Given the description of an element on the screen output the (x, y) to click on. 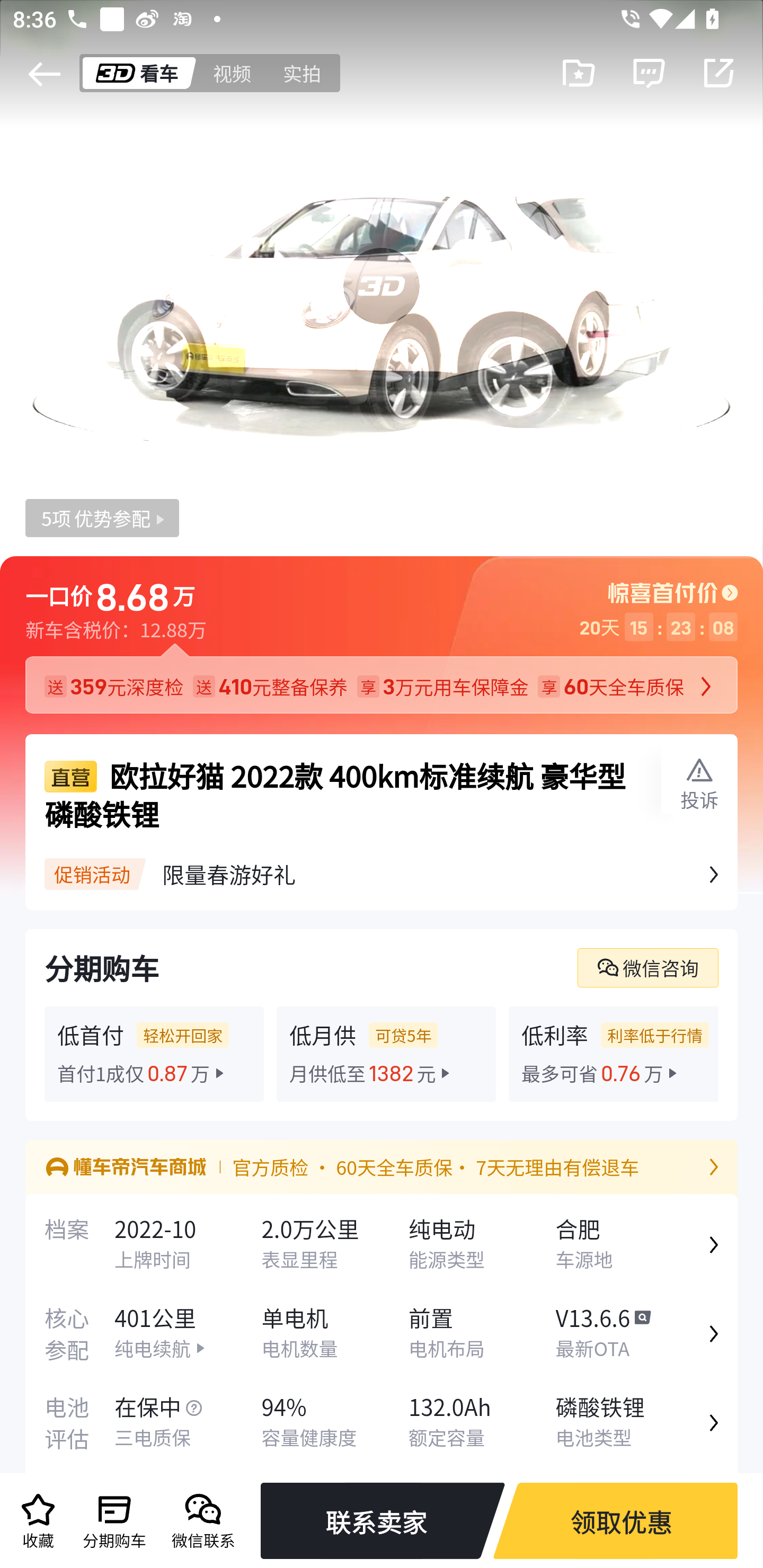
看车 (134, 72)
视频 (232, 72)
实拍 (302, 72)
5项 优势参配·查看解读 5项 优势参配 (102, 517)
一口价8.68万 20天15:23:08 新车含税价：12.88万 (381, 599)
送359元深度检送410元整备保养享3万元用车保障金享60天全车质保 (381, 677)
投诉 (698, 784)
促销活动 限量春游好礼 (381, 874)
微信咨询 (647, 967)
低首付 轻松开回家 首付1成仅 0.87 万 (153, 1054)
低月供 可贷5年 月供低至 1382 元 (385, 1054)
低利率 利率低于行情 最多可省 0.76 万 (613, 1054)
官方质检 · 60天全车质保· 7天无理由有偿退车 (381, 1170)
2022-10 上牌时间 (188, 1244)
2.0万公里 表显里程 (334, 1244)
纯电动 能源类型 (482, 1244)
合肥 车源地 (628, 1244)
401公里 纯电续航 (188, 1334)
单电机 电机数量 (334, 1334)
前置 电机布局 (482, 1334)
V13.6.6 最新OTA (628, 1334)
在保中 三电质保 (188, 1422)
94% 容量健康度 (334, 1422)
132.0Ah 额定容量 (482, 1422)
磷酸铁锂 电池类型 (628, 1422)
收藏 (38, 1520)
分期购车 (114, 1520)
微信联系 (202, 1520)
联系卖家 (376, 1520)
领取优惠 (621, 1520)
